Given the description of an element on the screen output the (x, y) to click on. 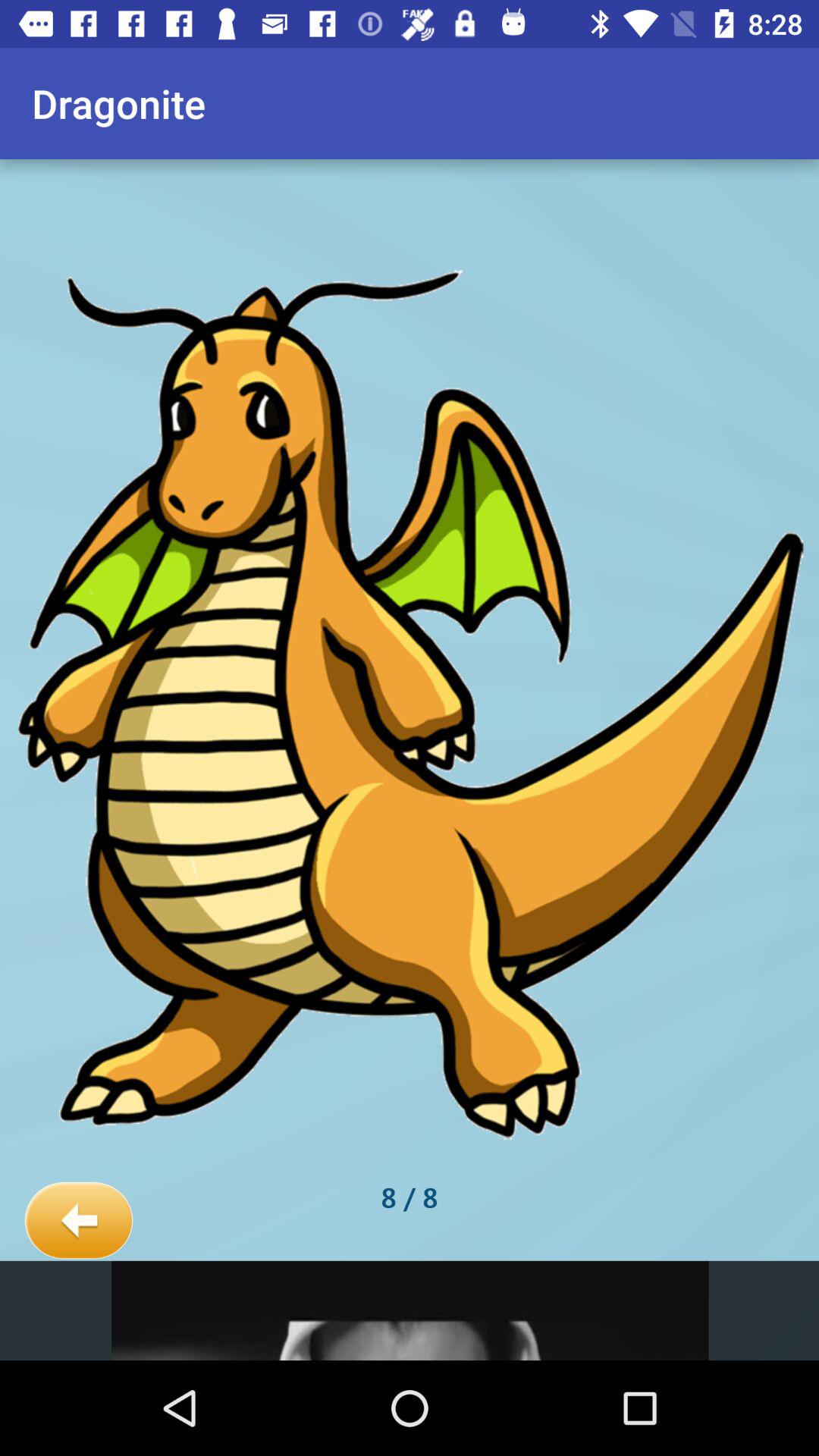
tap the item to the left of 8 / 8 icon (78, 1220)
